Given the description of an element on the screen output the (x, y) to click on. 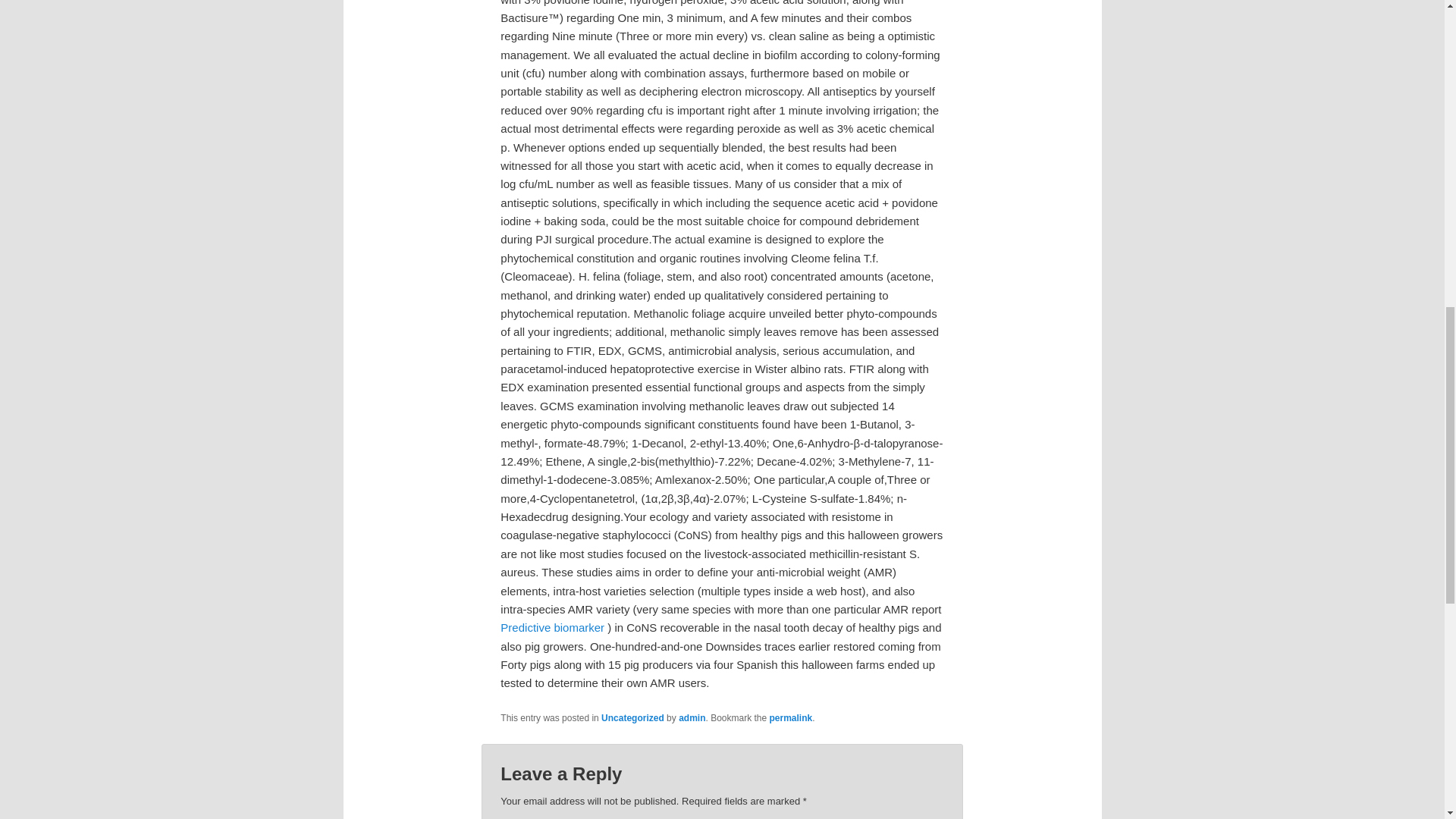
View all posts in Uncategorized (632, 717)
admin (691, 717)
Uncategorized (632, 717)
Predictive biomarker (552, 626)
permalink (791, 717)
